Given the description of an element on the screen output the (x, y) to click on. 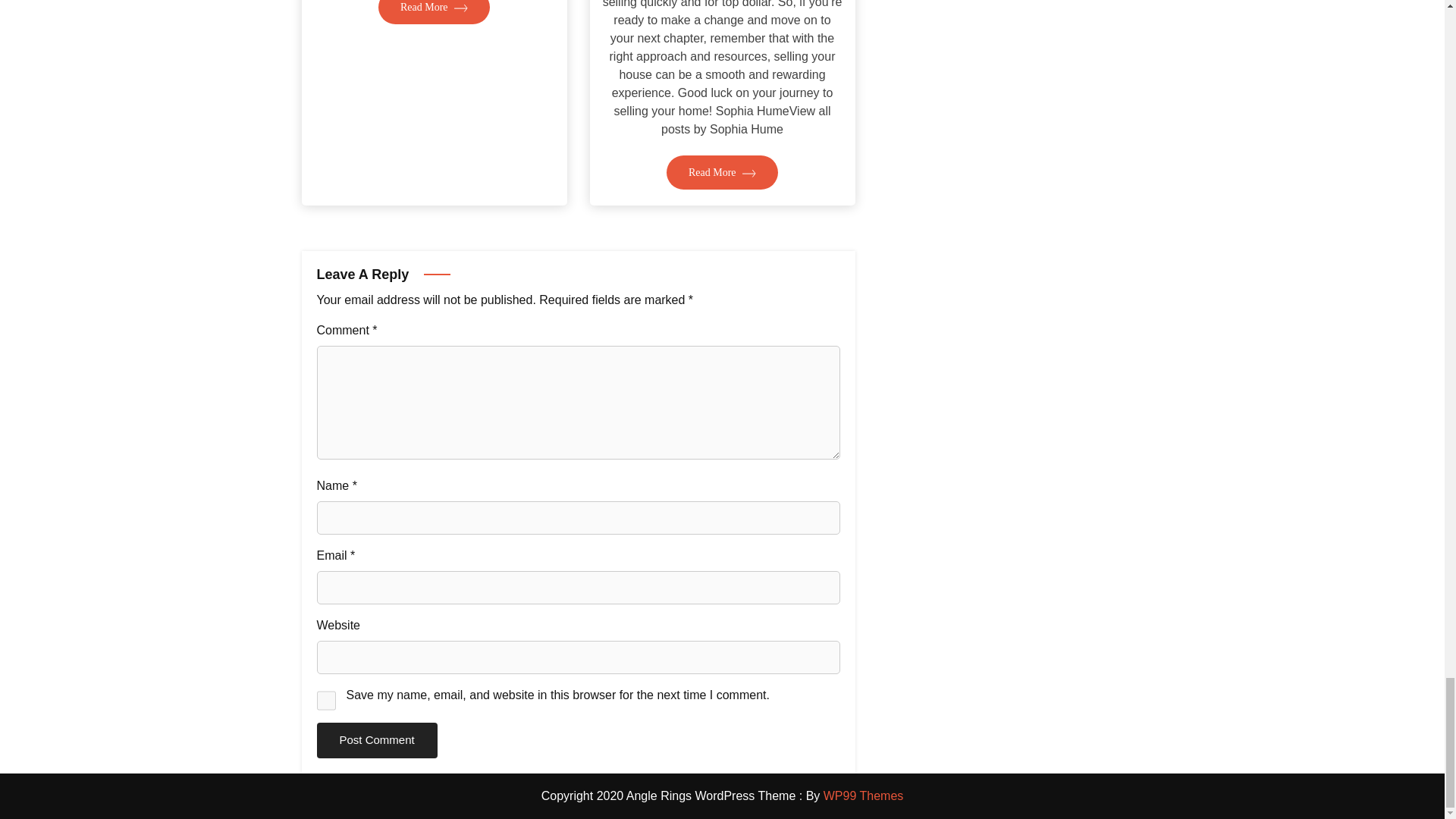
Read More (433, 61)
Post Comment (377, 740)
yes (326, 700)
Read More (721, 226)
